Given the description of an element on the screen output the (x, y) to click on. 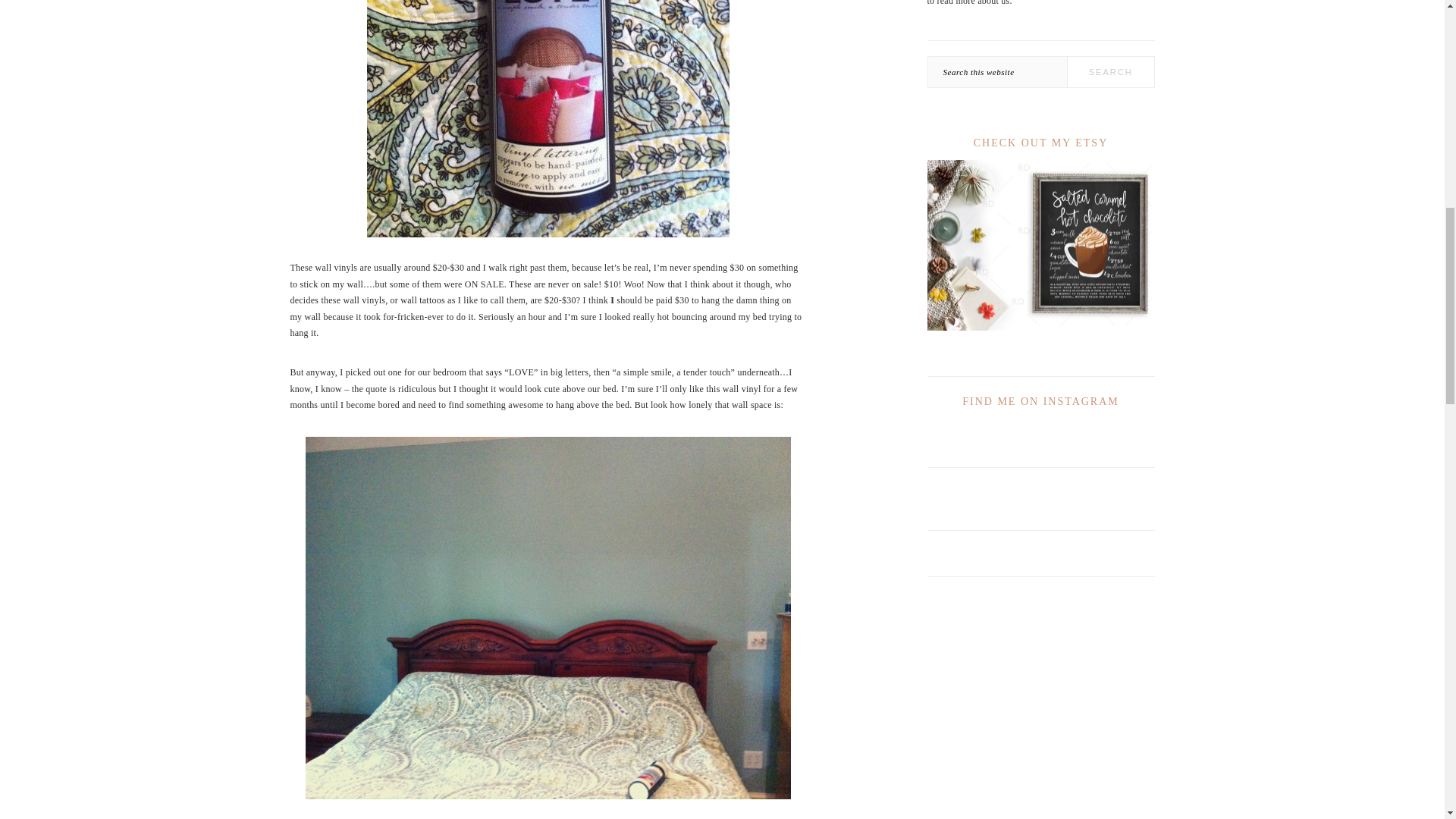
Search (1110, 71)
Search (1110, 71)
Search (1110, 71)
